Given the description of an element on the screen output the (x, y) to click on. 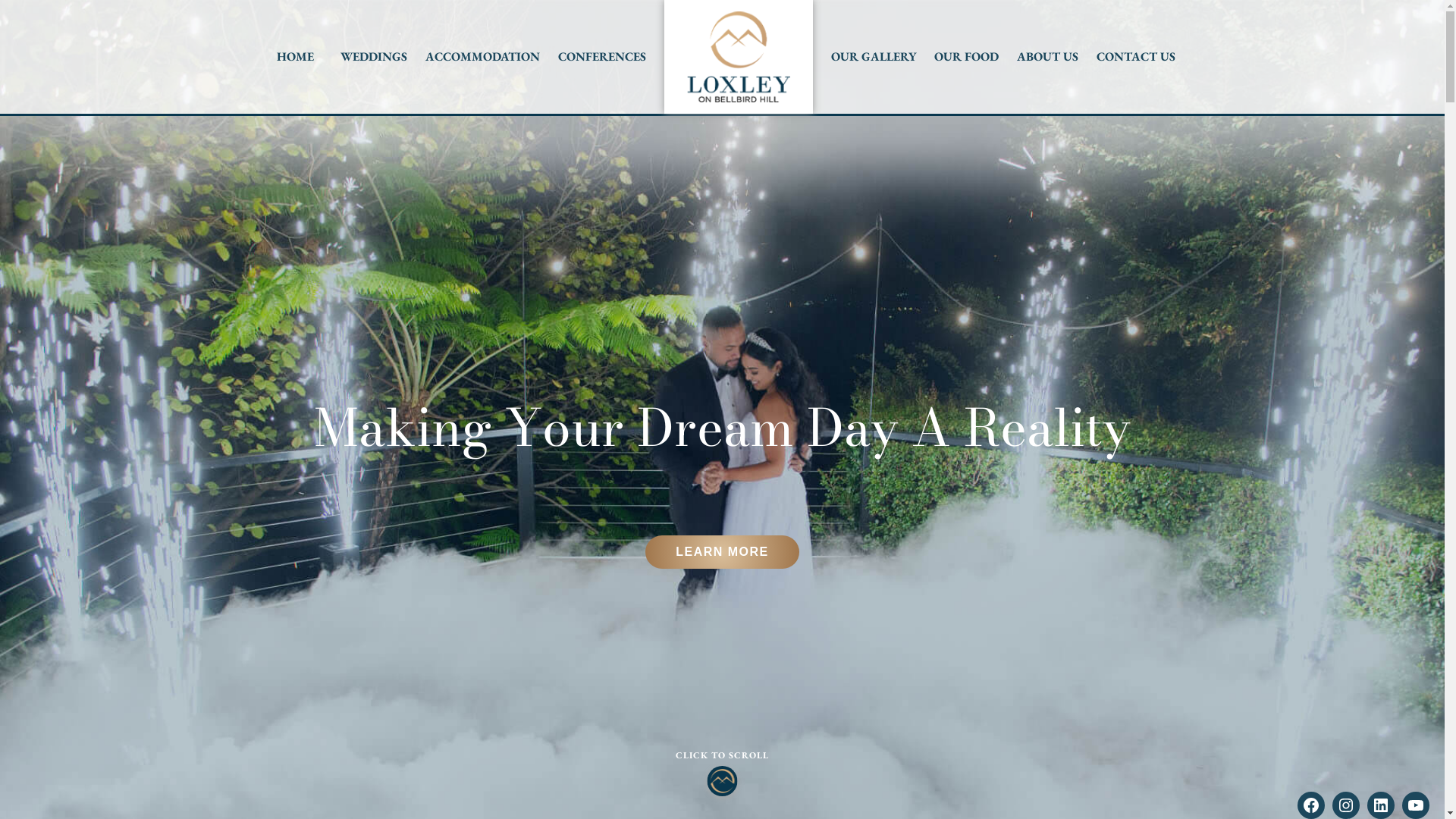
OUR FOOD Element type: text (966, 56)
ABOUT US Element type: text (1047, 56)
WEDDINGS Element type: text (373, 56)
LEARN MORE Element type: text (722, 551)
HOME Element type: text (295, 56)
CLICK TO SCROLL Element type: text (721, 772)
ACCOMMODATION Element type: text (482, 56)
OUR GALLERY Element type: text (873, 56)
CONFERENCES Element type: text (602, 56)
CONTACT US Element type: text (1135, 56)
